Given the description of an element on the screen output the (x, y) to click on. 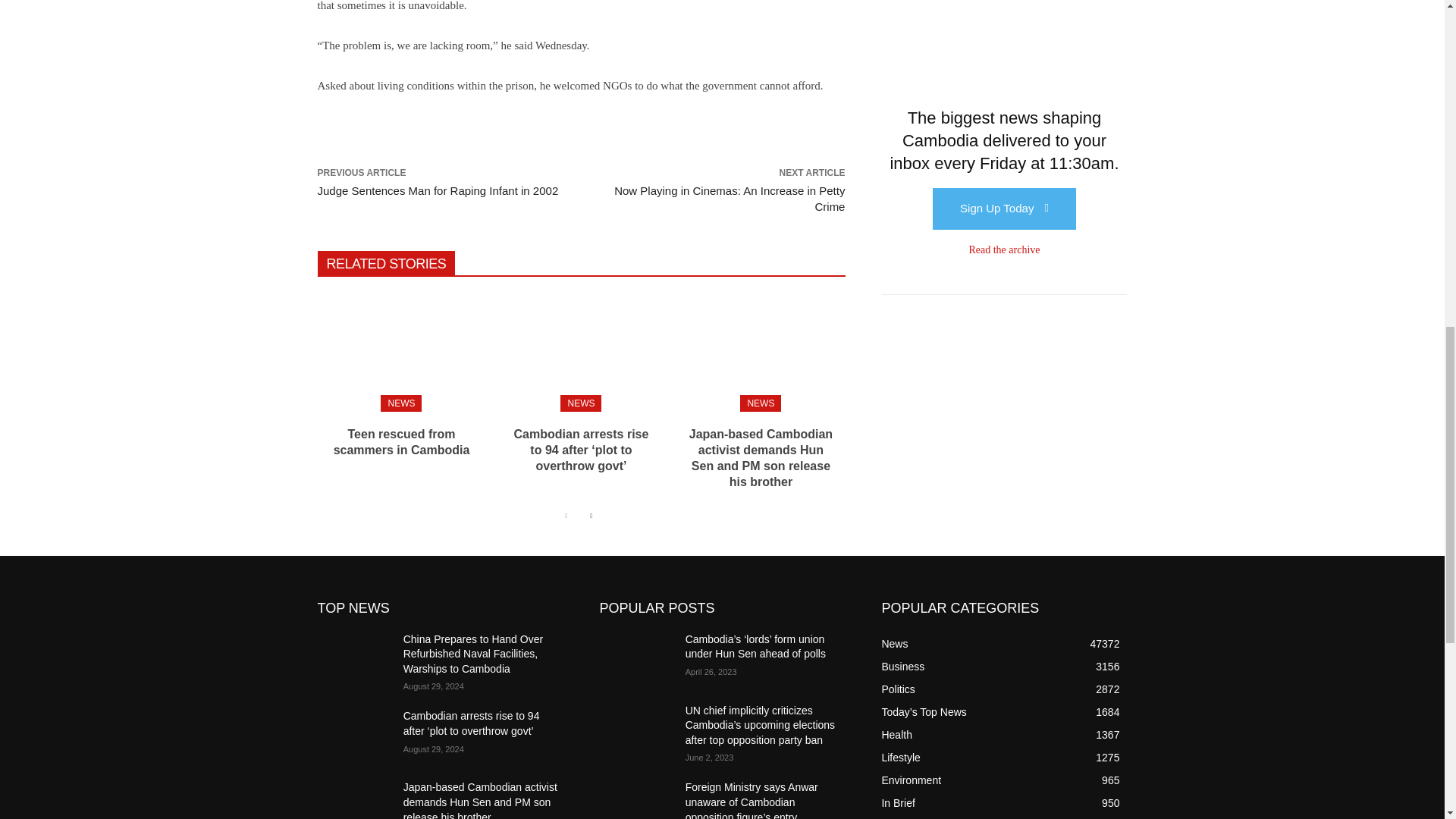
NEWS (580, 402)
Teen rescued from scammers in Cambodia (401, 441)
Judge Sentences Man for Raping Infant in 2002 (437, 190)
Teen rescued from scammers in Cambodia (400, 350)
Teen rescued from scammers in Cambodia (401, 441)
NEWS (401, 402)
NEWS (759, 402)
Now Playing in Cinemas: An Increase in Petty Crime (729, 198)
